Given the description of an element on the screen output the (x, y) to click on. 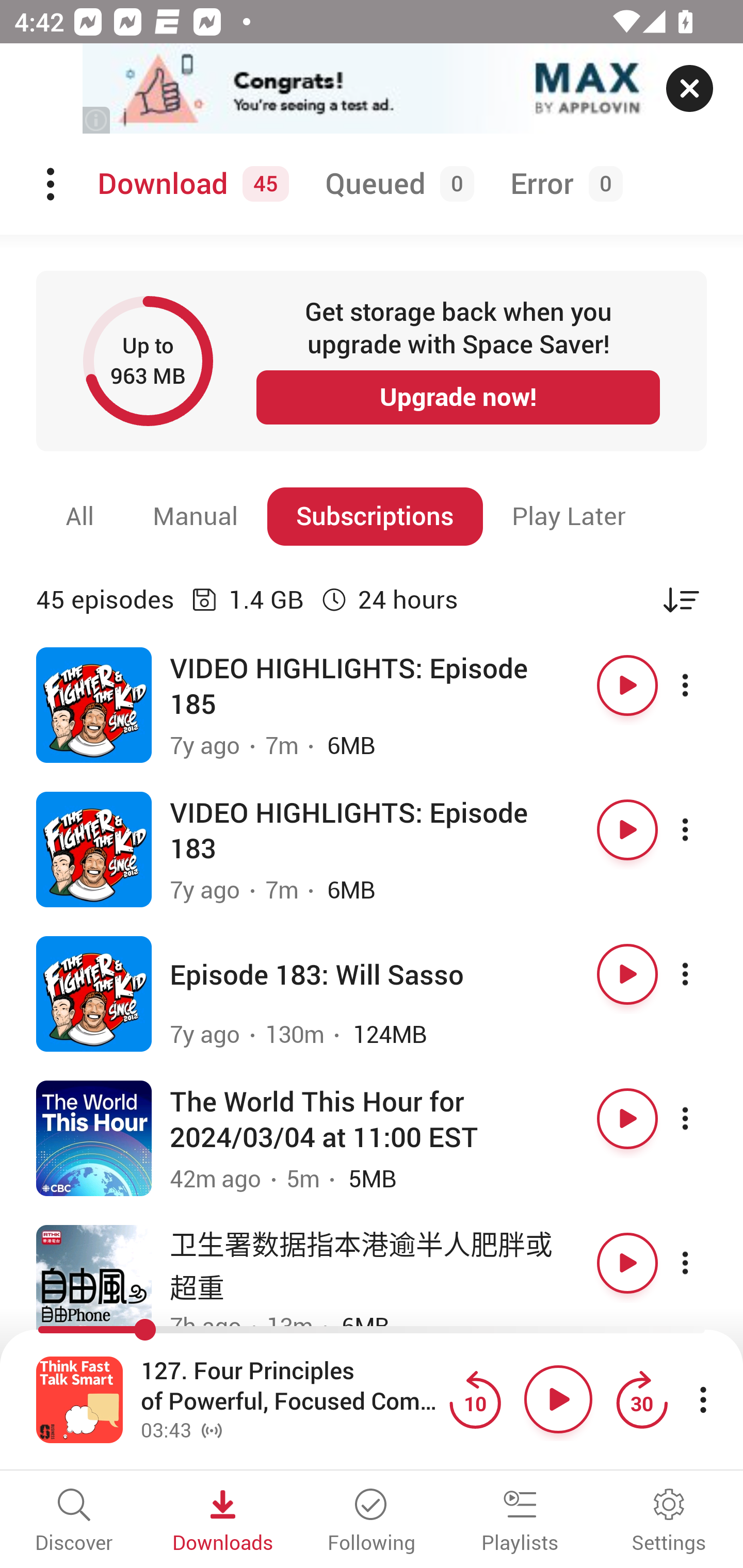
app-monetization (371, 88)
(i) (96, 119)
Menu (52, 184)
 Download 45 (189, 184)
 Queued 0 (396, 184)
 Error 0 (562, 184)
All (80, 516)
Manual (195, 516)
Subscriptions (374, 516)
Play Later (568, 516)
Change sort order (681, 599)
Play button (627, 685)
More options (703, 685)
Open series The Fighter & The Kid (93, 705)
Play button (627, 830)
More options (703, 830)
Open series The Fighter & The Kid (93, 849)
Play button (627, 974)
More options (703, 974)
Open series The Fighter & The Kid (93, 994)
Play button (627, 1118)
More options (703, 1118)
Open series The World This Hour (93, 1138)
Play button (627, 1263)
More options (703, 1263)
Open series 自由风自由PHONE (93, 1282)
Open fullscreen player (79, 1399)
More player controls (703, 1399)
Play button (558, 1398)
Jump back (475, 1399)
Jump forward (641, 1399)
Discover (74, 1521)
Downloads (222, 1521)
Following (371, 1521)
Playlists (519, 1521)
Settings (668, 1521)
